Given the description of an element on the screen output the (x, y) to click on. 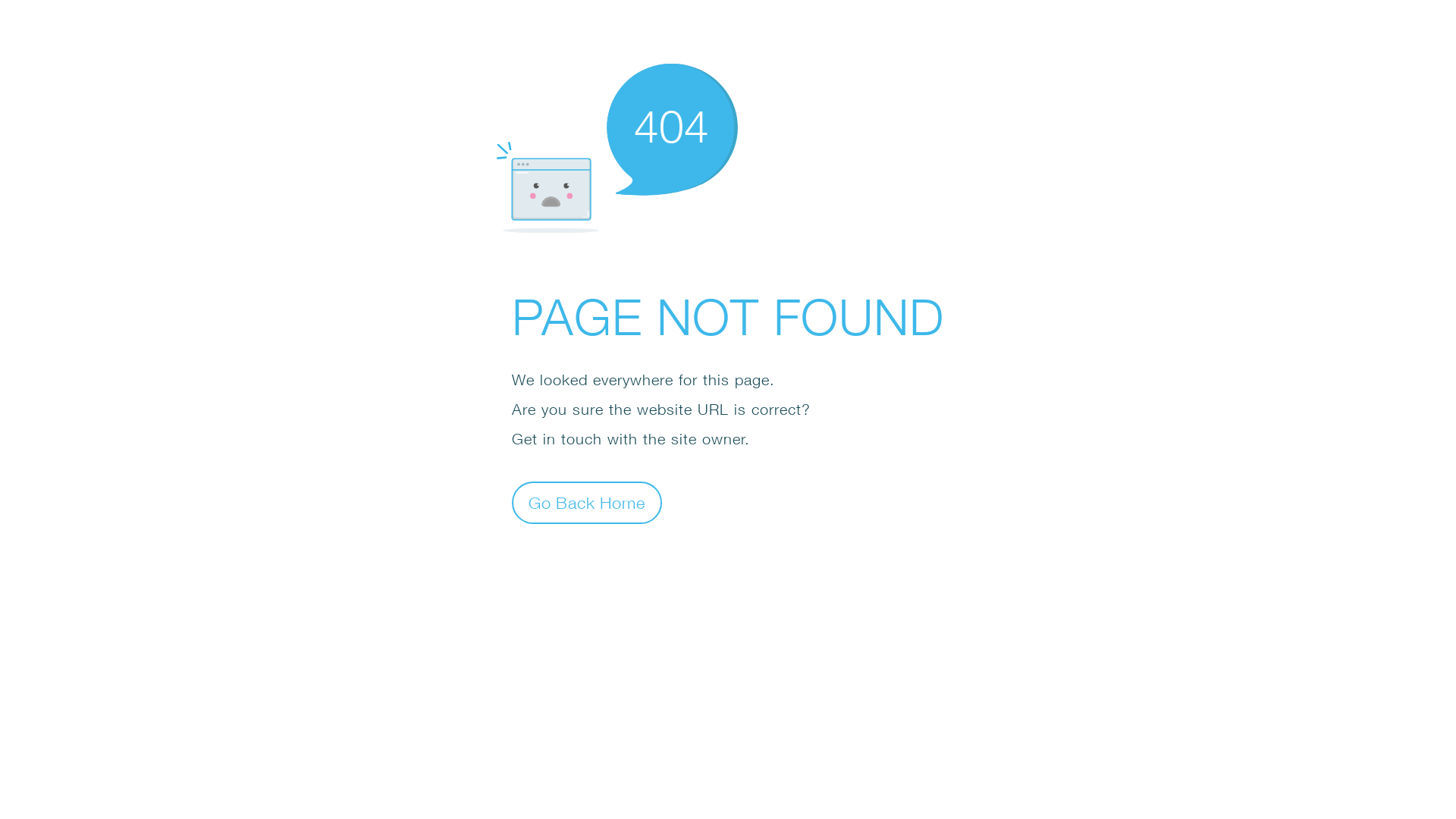
Go Back Home Element type: text (586, 502)
